Given the description of an element on the screen output the (x, y) to click on. 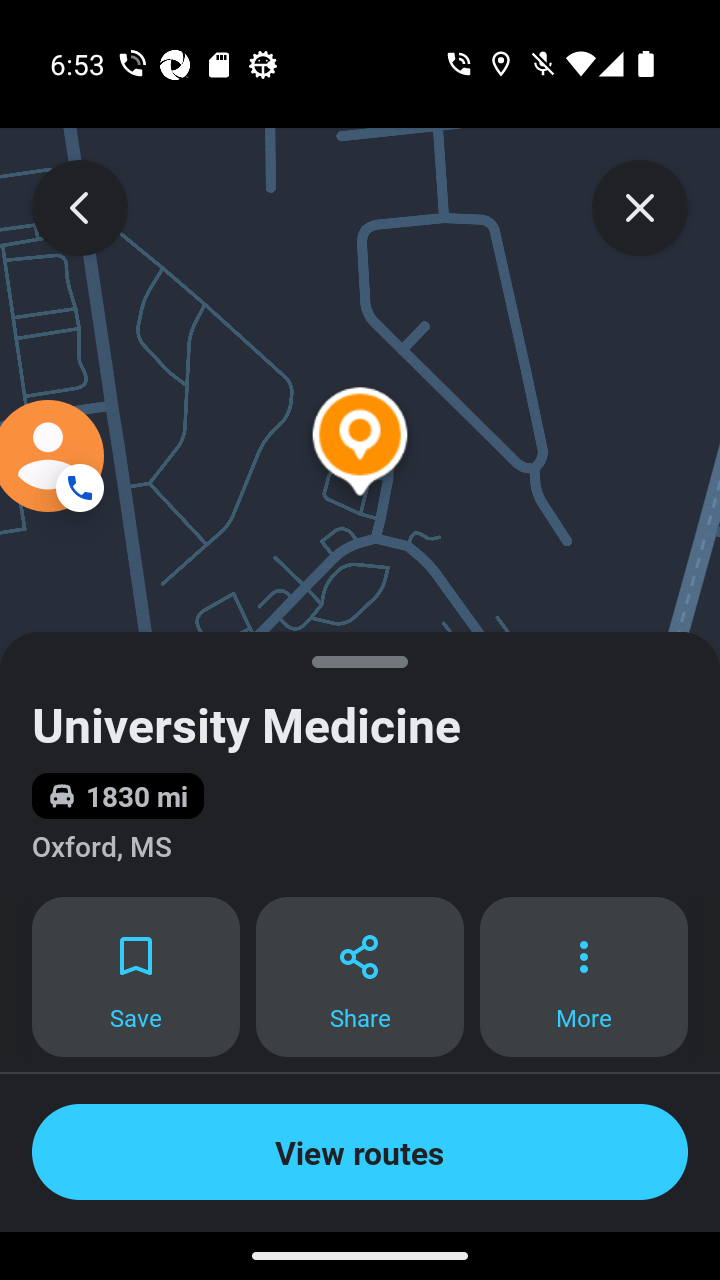
University Medicine 1830 mi Oxford, MS (360, 764)
Save (135, 977)
Share (359, 977)
More (584, 977)
View routes (359, 1151)
